Given the description of an element on the screen output the (x, y) to click on. 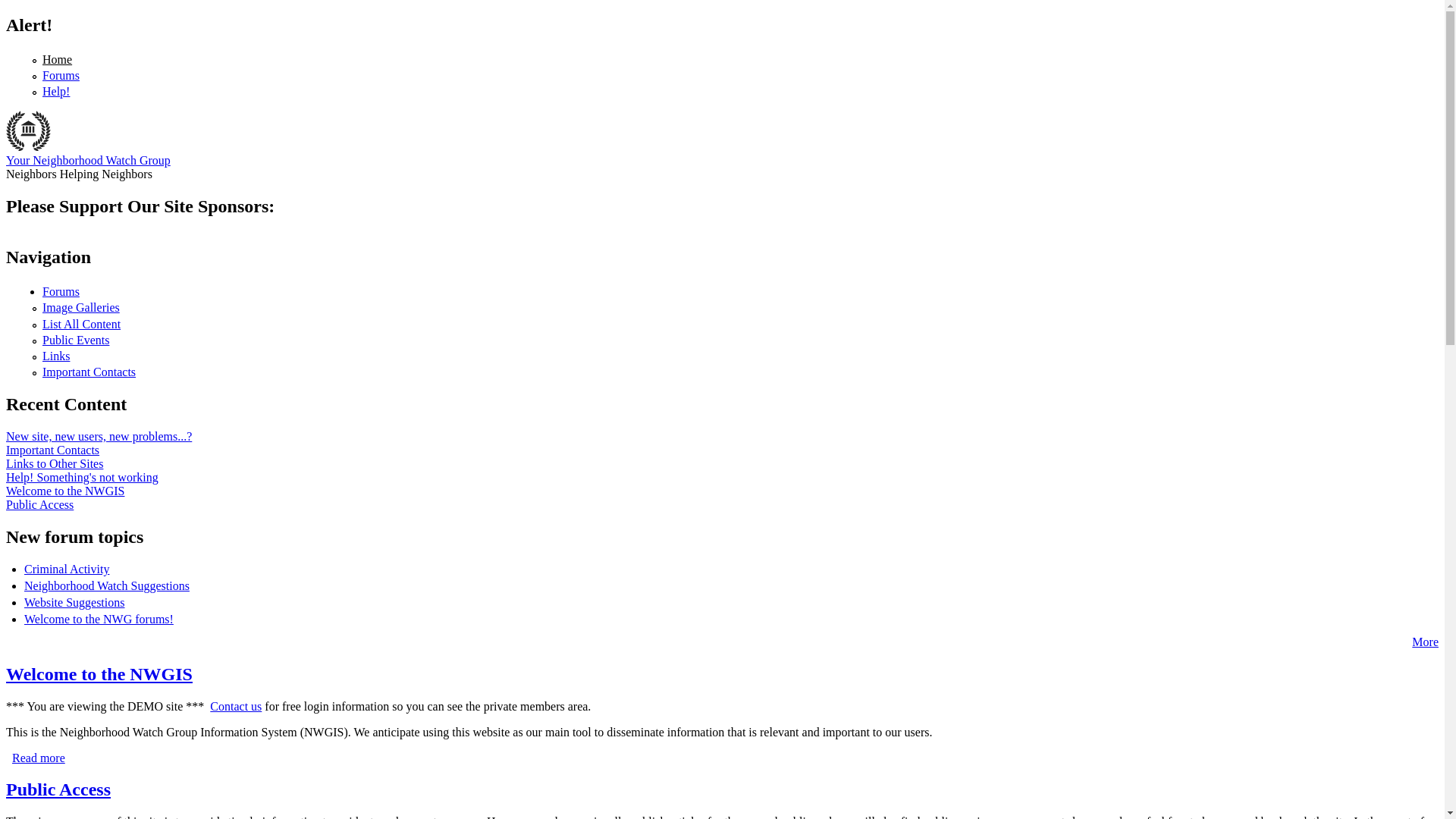
Your Neighborhood Watch Group Element type: text (88, 159)
Neighborhood Watch Suggestions Element type: text (106, 585)
Important Contacts Element type: text (88, 371)
Welcome to the NWGIS Element type: text (99, 674)
Image Galleries Element type: text (80, 307)
Read more
about Welcome to the NWGIS Element type: text (38, 757)
Forums Element type: text (60, 291)
Help! Something's not working Element type: text (82, 476)
Public Access Element type: text (58, 789)
Help! Element type: text (55, 90)
Contact us Element type: text (235, 705)
More Element type: text (1425, 641)
Public Access Element type: text (39, 504)
New site, new users, new problems...? Element type: text (98, 435)
Website Suggestions Element type: text (74, 602)
Criminal Activity Element type: text (66, 568)
Welcome to the NWGIS Element type: text (65, 490)
Home Element type: hover (28, 146)
Links to Other Sites Element type: text (54, 463)
Skip to main content Element type: text (56, 15)
Forums Element type: text (60, 75)
Important Contacts Element type: text (52, 449)
Links Element type: text (55, 355)
List All Content Element type: text (81, 323)
Welcome to the NWG forums! Element type: text (98, 618)
Public Events Element type: text (75, 339)
Home Element type: text (57, 59)
